Given the description of an element on the screen output the (x, y) to click on. 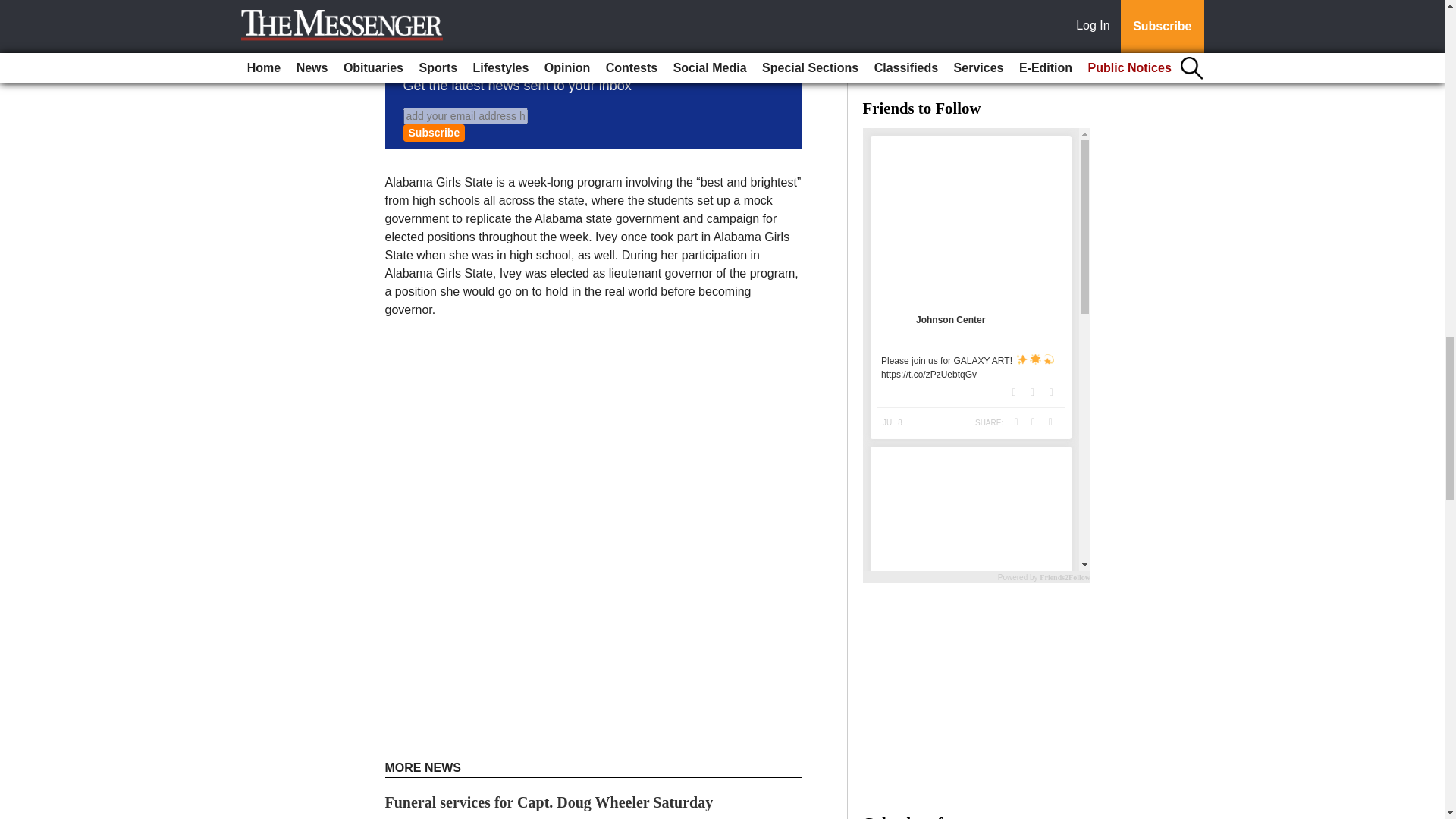
Subscribe (434, 132)
Funeral services for Capt. Doug Wheeler Saturday (549, 801)
